Given the description of an element on the screen output the (x, y) to click on. 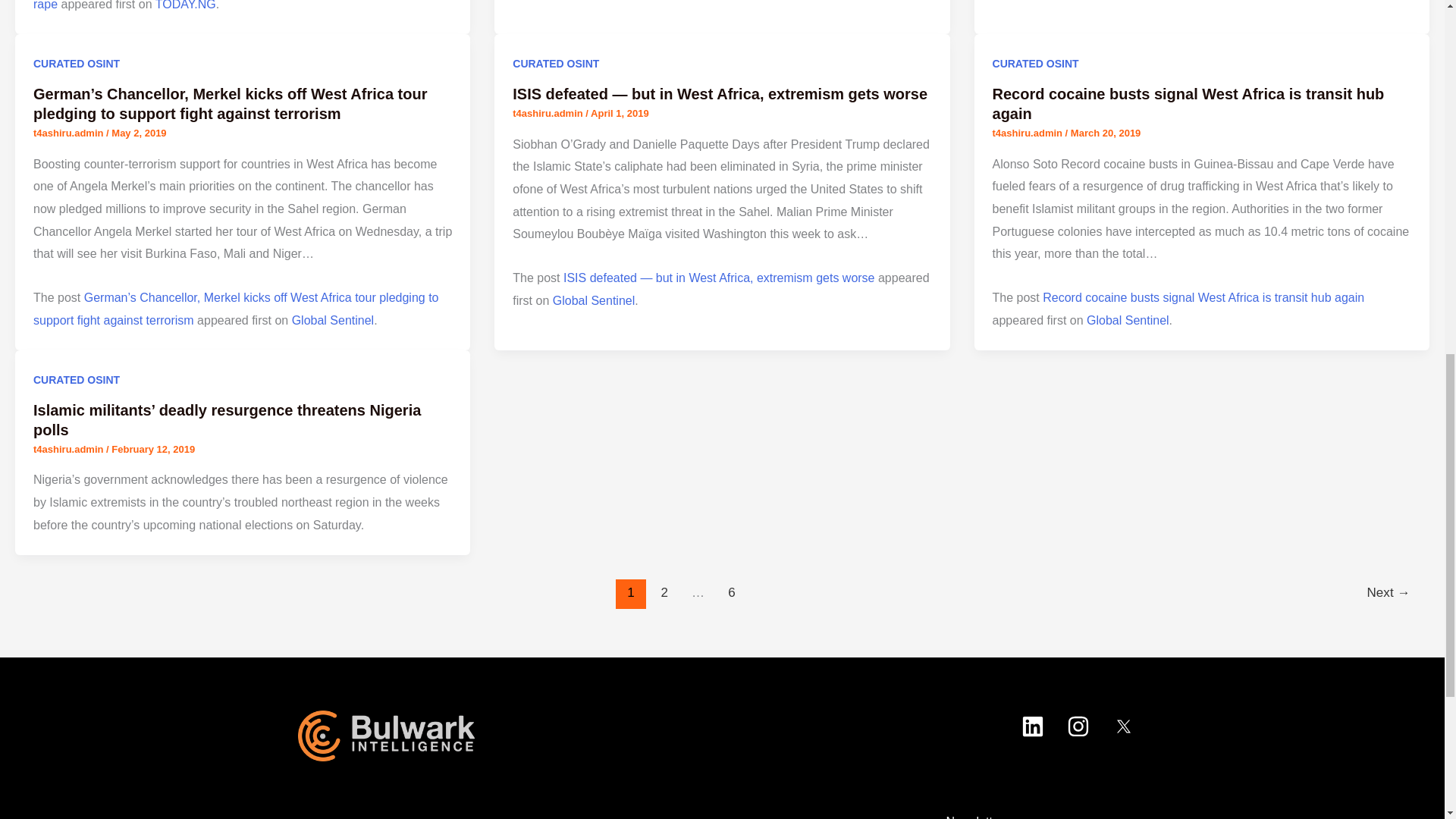
View all posts by t4ashiru.admin (69, 449)
View all posts by t4ashiru.admin (69, 132)
View all posts by t4ashiru.admin (1028, 132)
View all posts by t4ashiru.admin (548, 112)
TODAY.NG (185, 5)
